Given the description of an element on the screen output the (x, y) to click on. 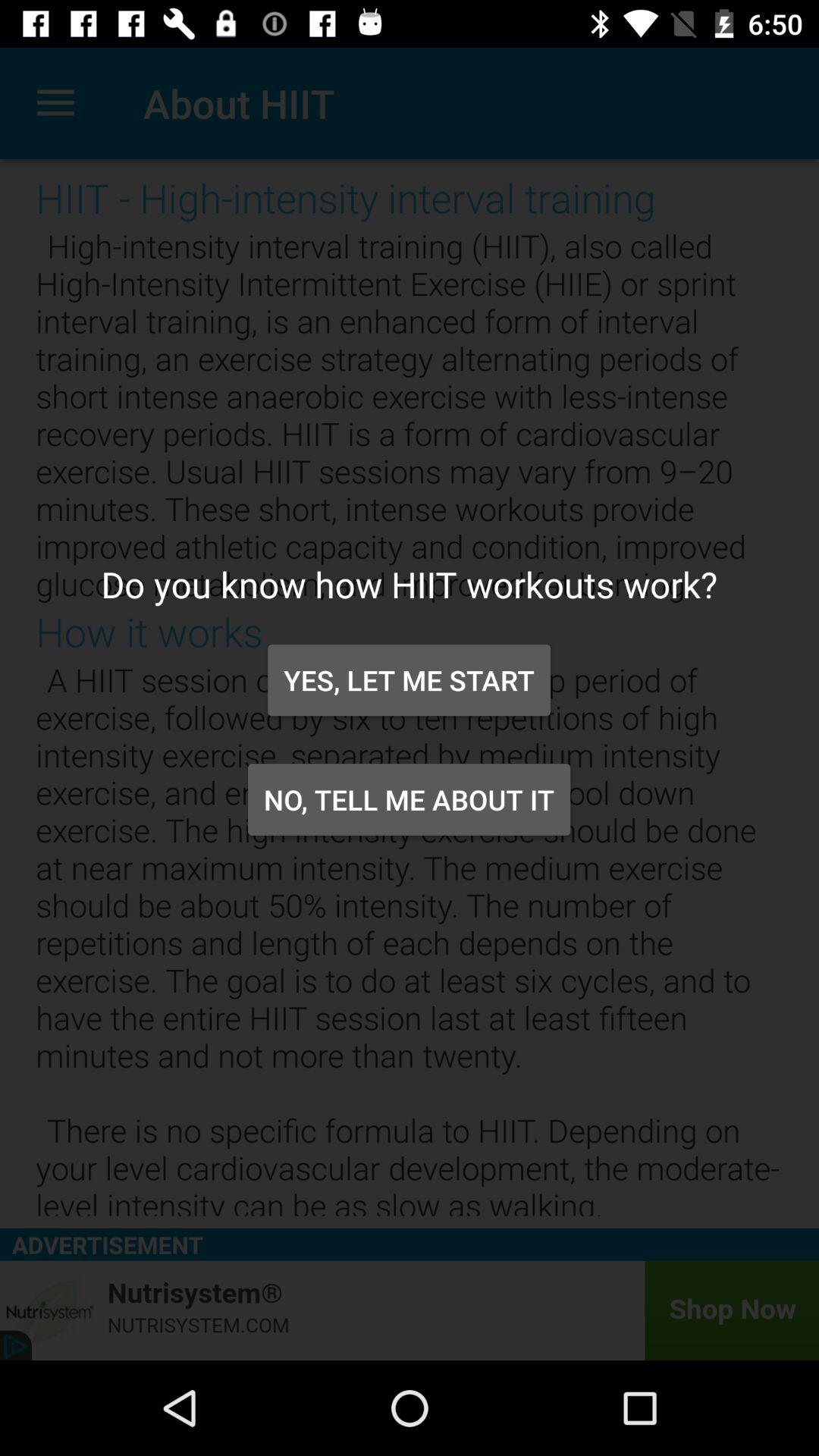
turn on icon below the yes let me (409, 799)
